Given the description of an element on the screen output the (x, y) to click on. 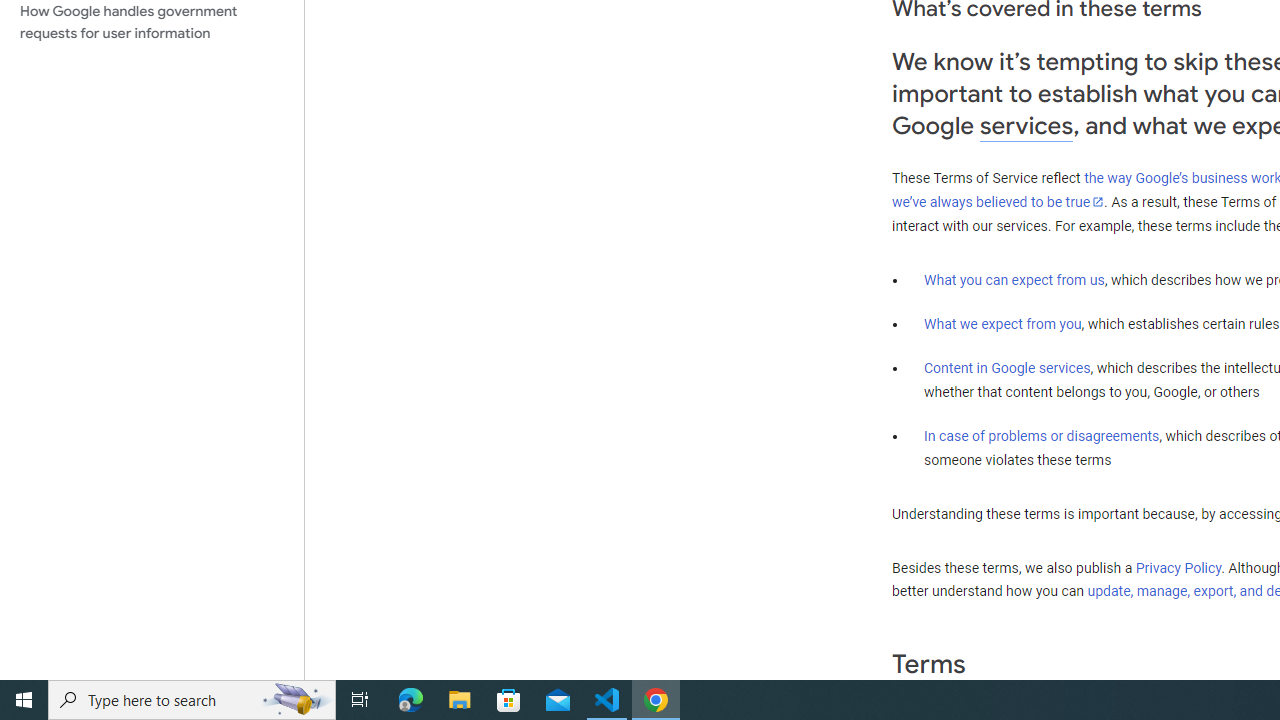
In case of problems or disagreements (1041, 435)
What you can expect from us (1014, 279)
What we expect from you (1002, 323)
services (1026, 125)
Content in Google services (1007, 368)
